Given the description of an element on the screen output the (x, y) to click on. 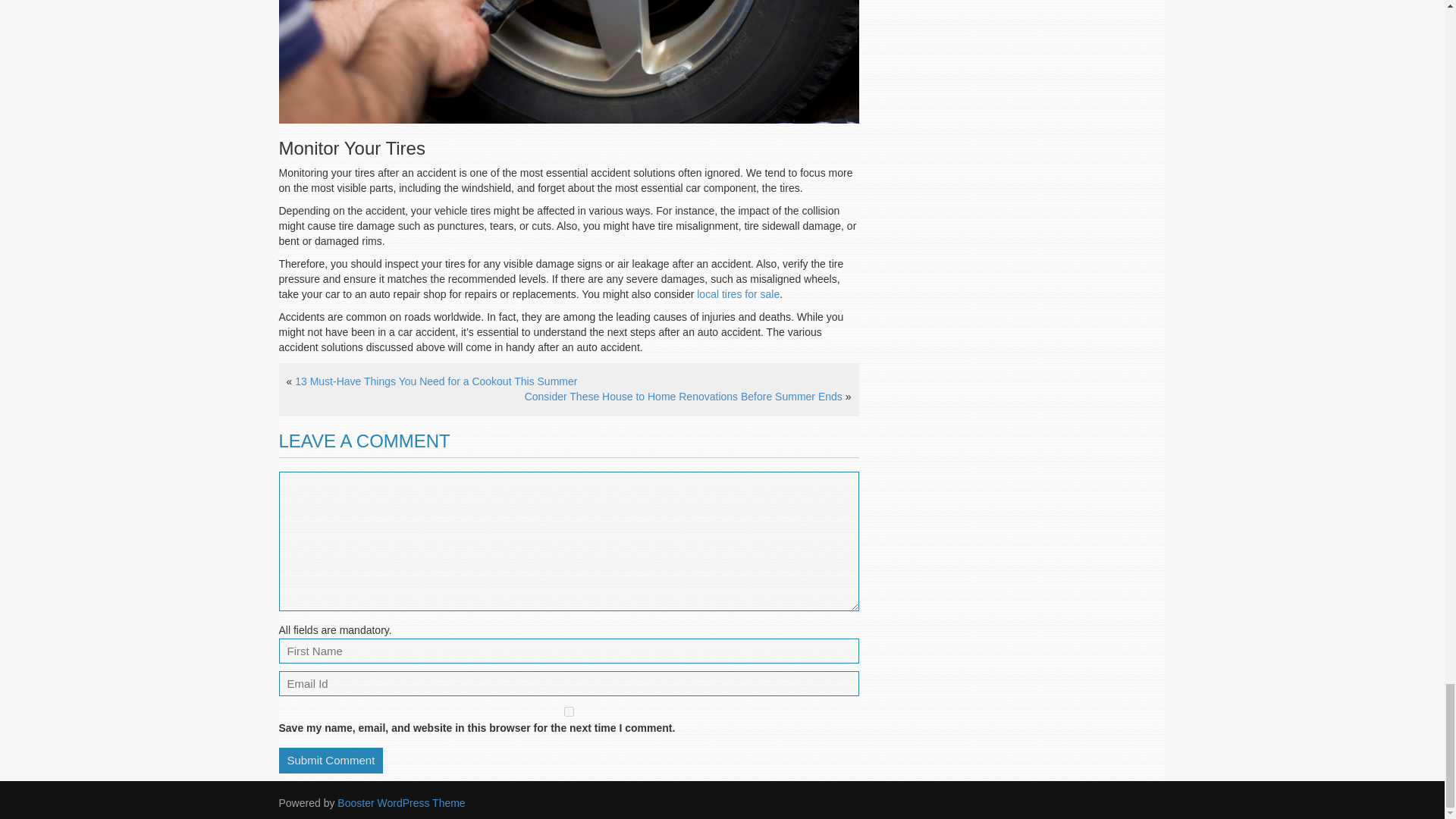
yes (569, 711)
local tires for sale (737, 294)
Submit Comment (331, 760)
13 Must-Have Things You Need for a Cookout This Summer (435, 381)
Consider These House to Home Renovations Before Summer Ends (683, 396)
Submit Comment (331, 760)
